Given the description of an element on the screen output the (x, y) to click on. 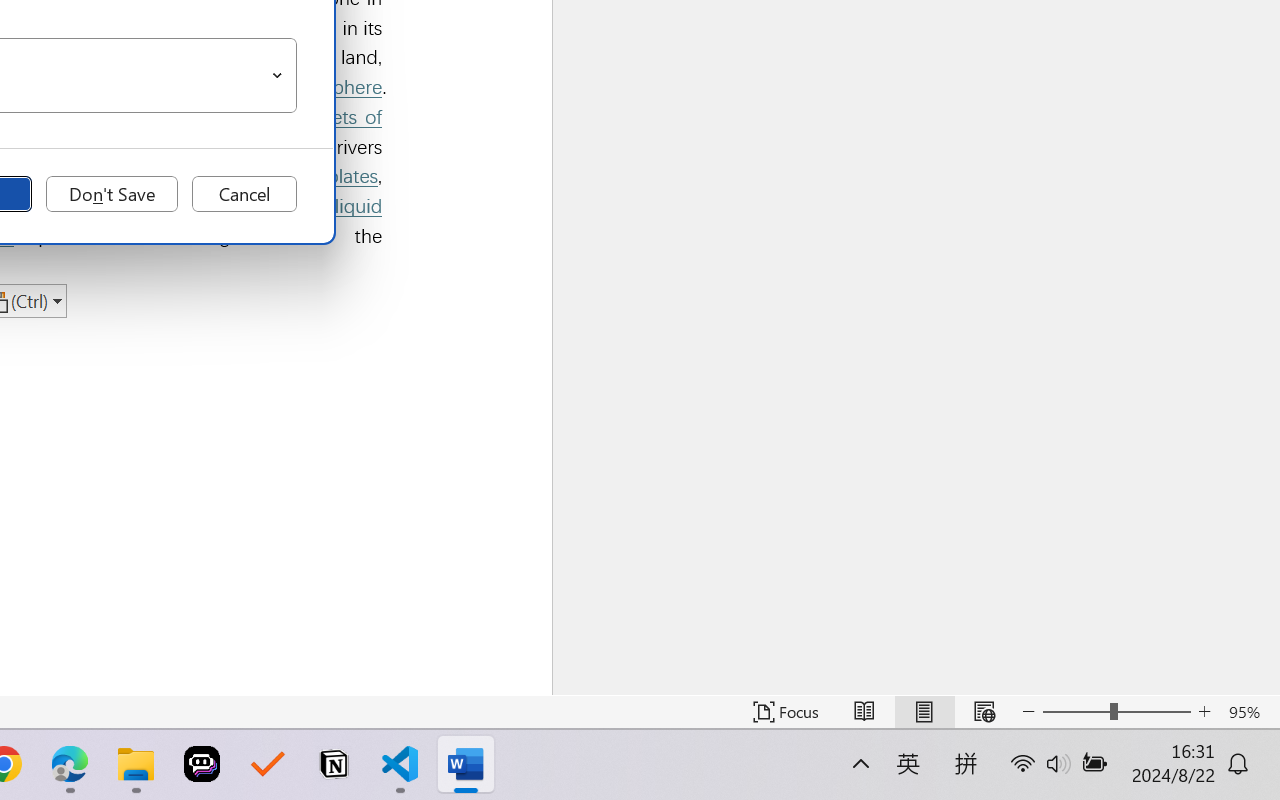
Poe (201, 764)
Open (277, 75)
Don't Save (111, 194)
Notion (333, 764)
Cancel (244, 194)
